Given the description of an element on the screen output the (x, y) to click on. 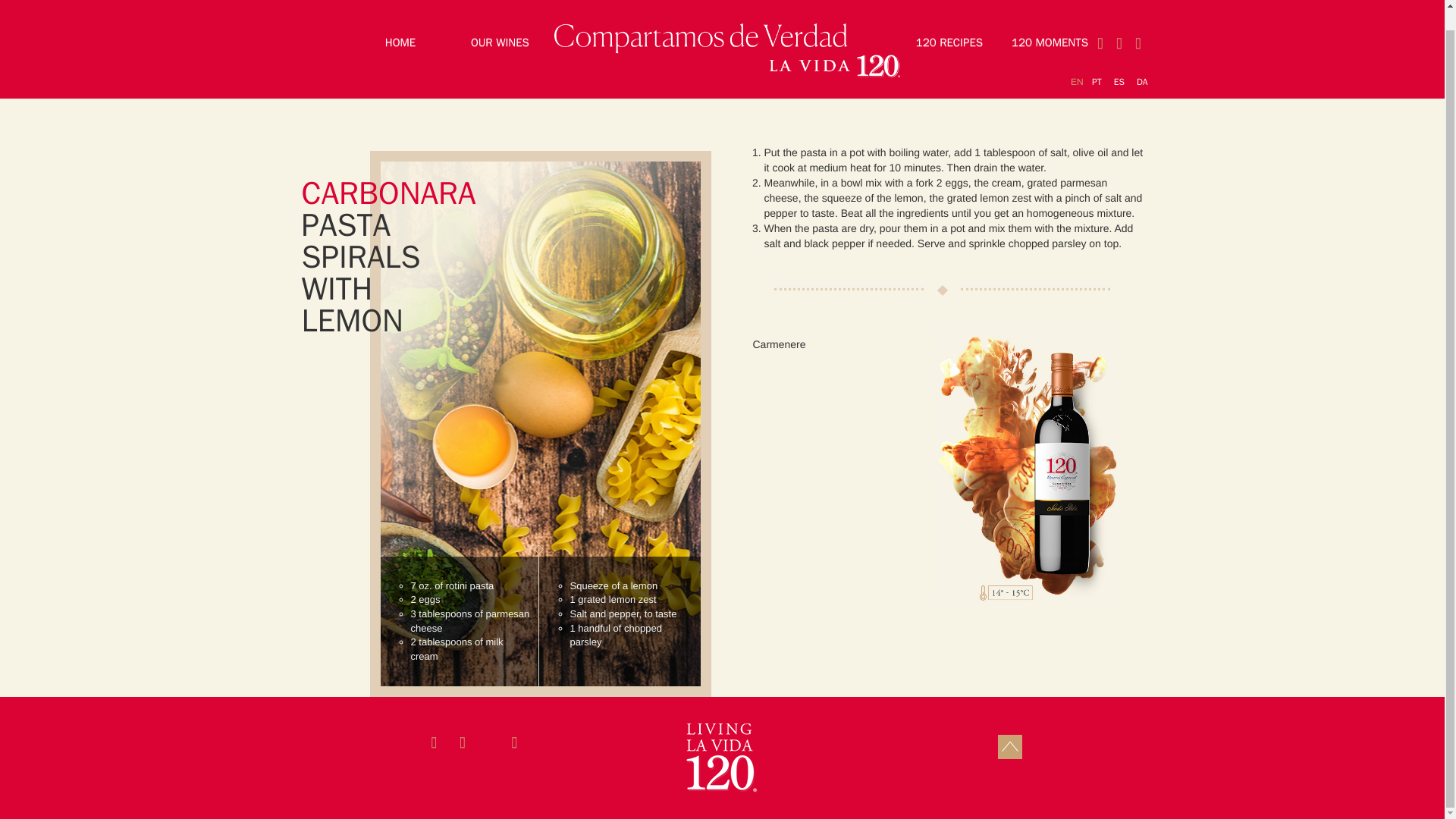
INSTAGRAM (1119, 23)
FACEBOOK (1138, 23)
Home (400, 23)
ES (1119, 62)
subir (1010, 746)
120 moments (1049, 23)
Instagram (1119, 23)
Youtube (1100, 23)
120 MOMENTS (1049, 23)
DA (1142, 62)
Our Wines (499, 23)
logo (721, 757)
HOME (400, 23)
Facebook (1138, 23)
OUR WINES (499, 23)
